Given the description of an element on the screen output the (x, y) to click on. 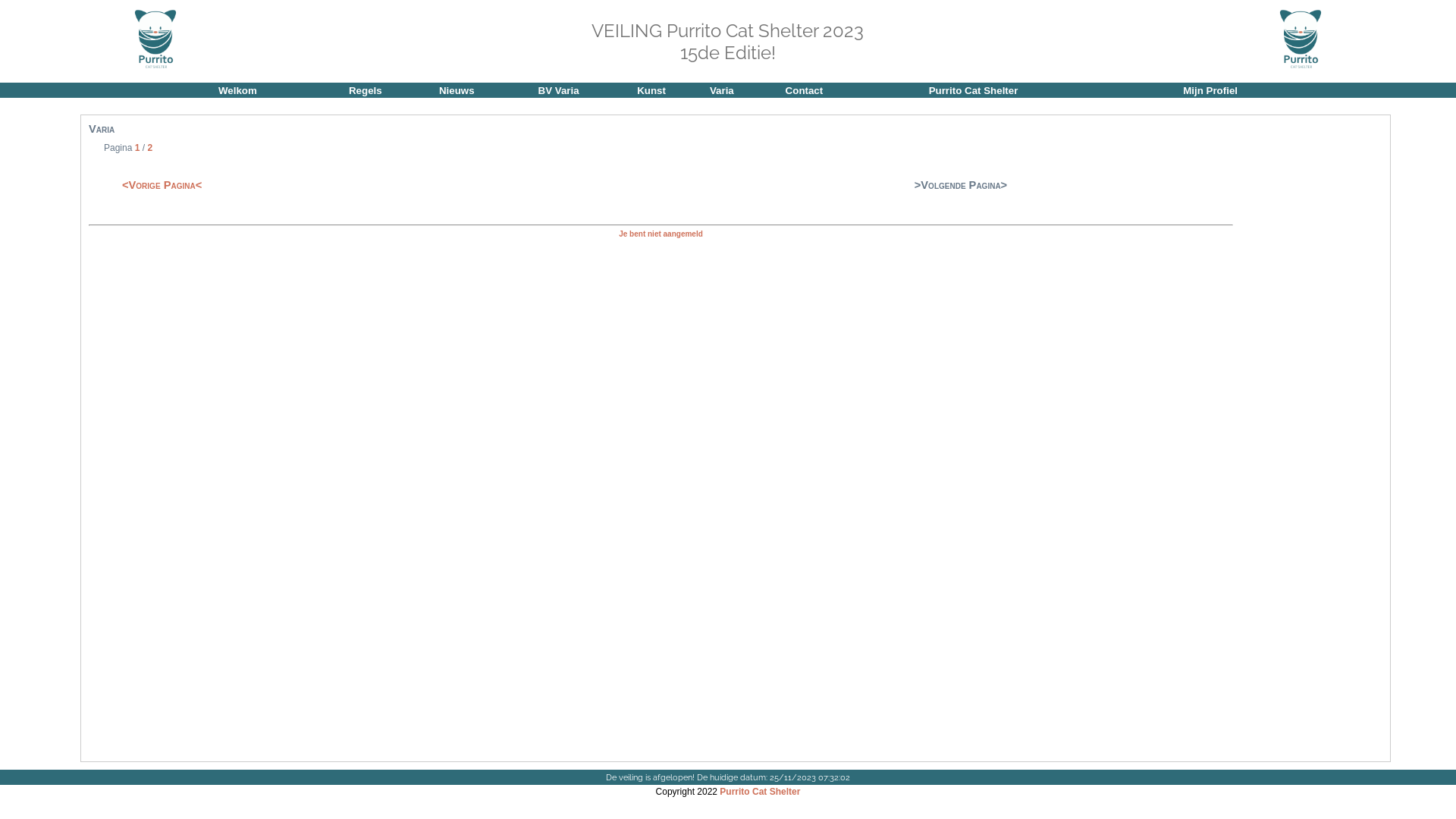
Kunst Element type: text (651, 90)
Mijn Profiel Element type: text (1210, 90)
BV Varia Element type: text (558, 90)
Varia Element type: text (721, 90)
Welkom Element type: text (237, 90)
Regels Element type: text (365, 90)
Nieuws Element type: text (456, 90)
Contact Element type: text (804, 90)
Purrito Cat Shelter Element type: text (759, 791)
Purrito Cat Shelter Element type: text (973, 90)
